Given the description of an element on the screen output the (x, y) to click on. 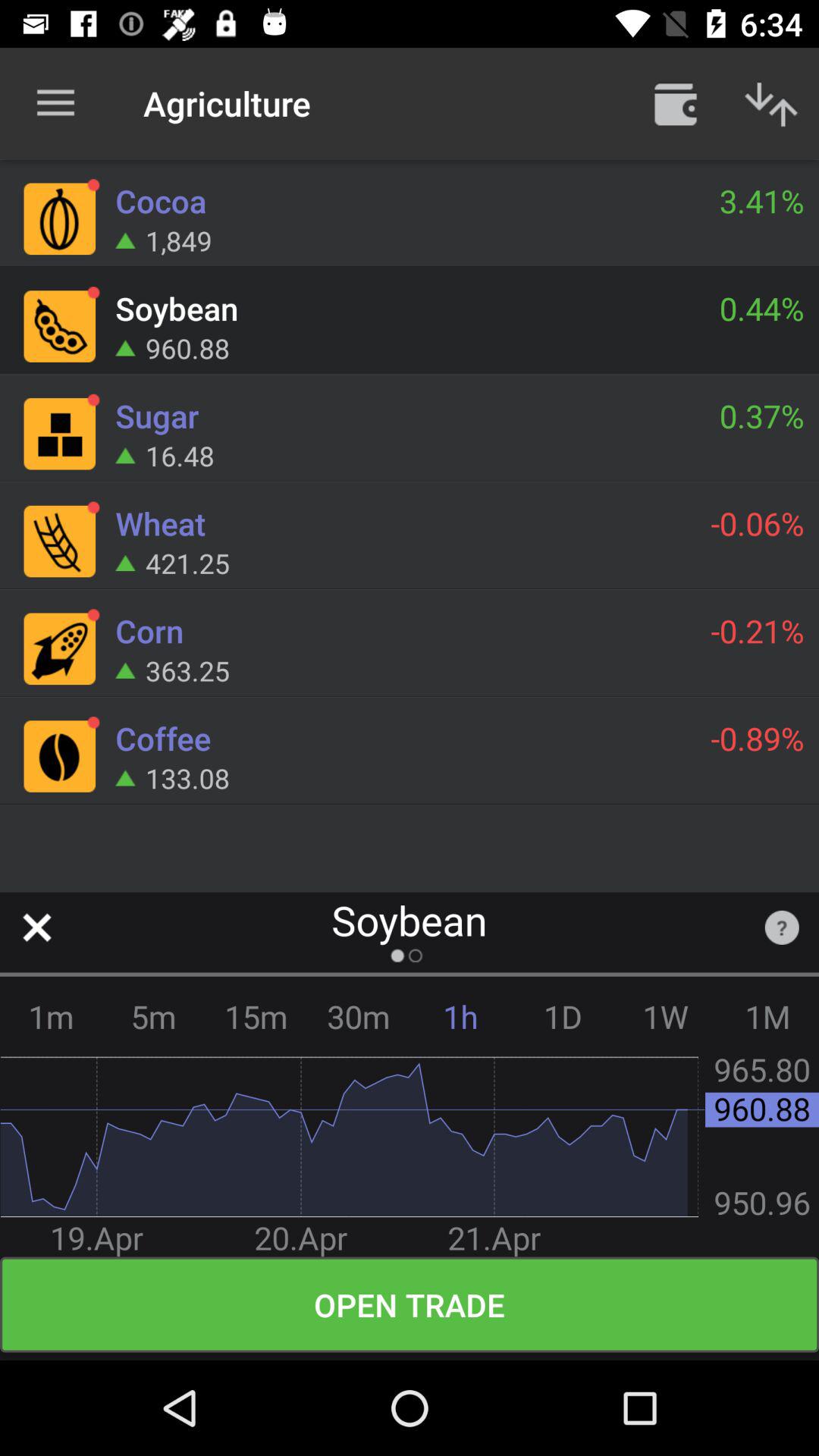
turn on the icon next to the 1h icon (358, 1016)
